Given the description of an element on the screen output the (x, y) to click on. 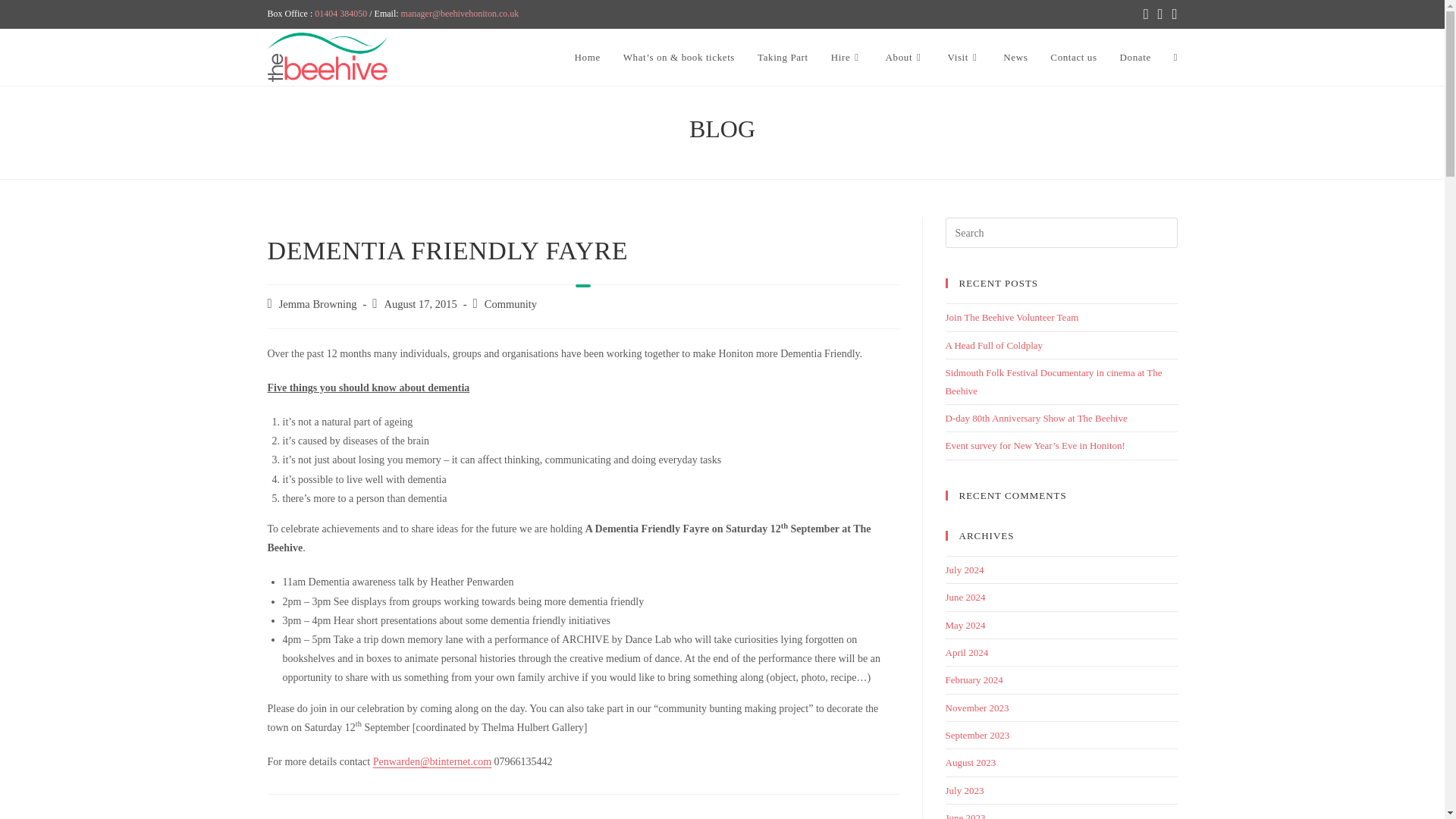
01404 384050 (340, 13)
Contact us (1073, 57)
Visit (963, 57)
About (905, 57)
Posts by Jemma Browning (317, 304)
Hire (847, 57)
Donate (1134, 57)
Taking Part (782, 57)
